Given the description of an element on the screen output the (x, y) to click on. 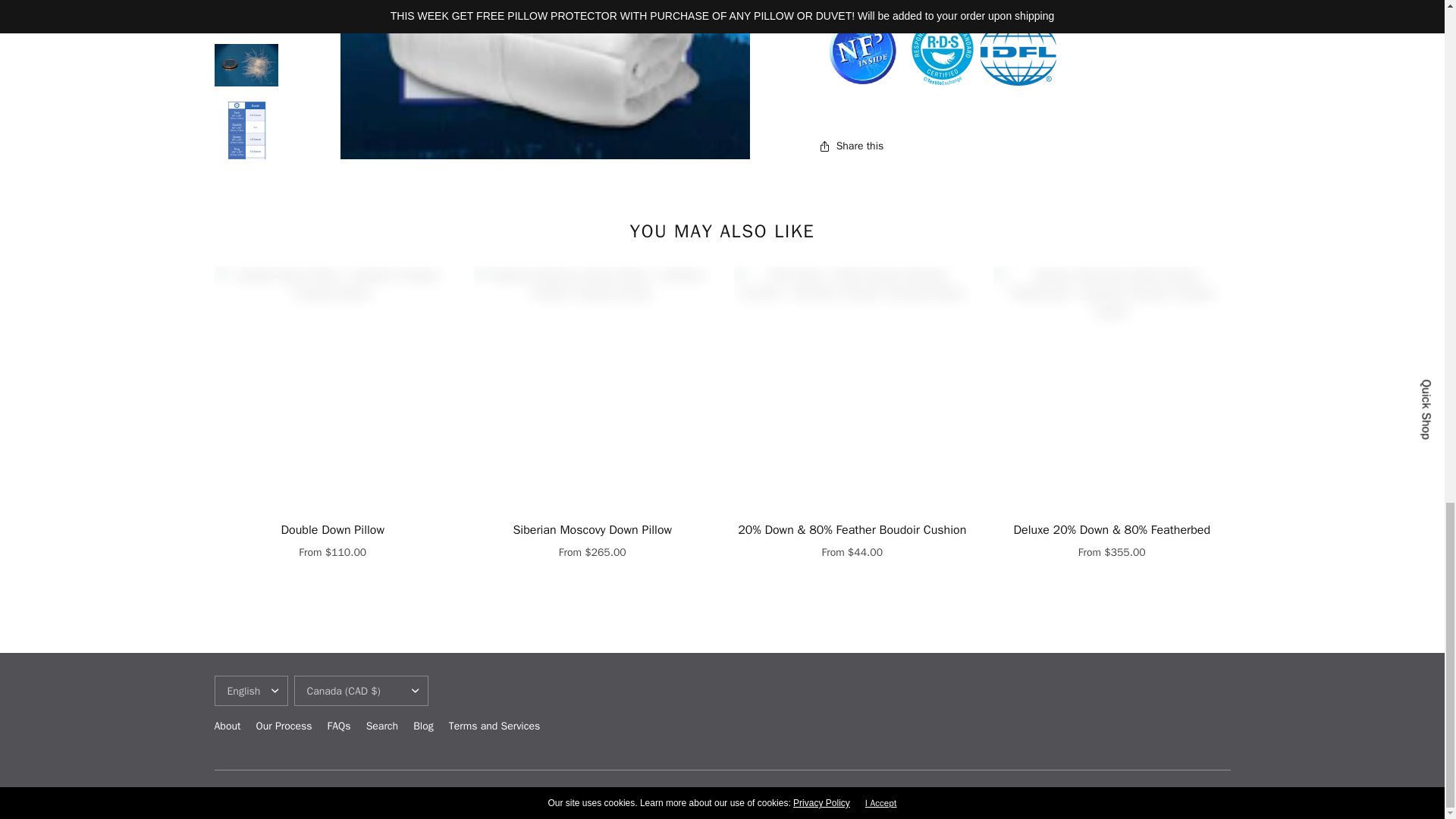
Visa (1218, 795)
PayPal (1154, 795)
Diners Club (1060, 795)
Discover (1091, 795)
Shop Pay (1186, 795)
Mastercard (1123, 795)
